Given the description of an element on the screen output the (x, y) to click on. 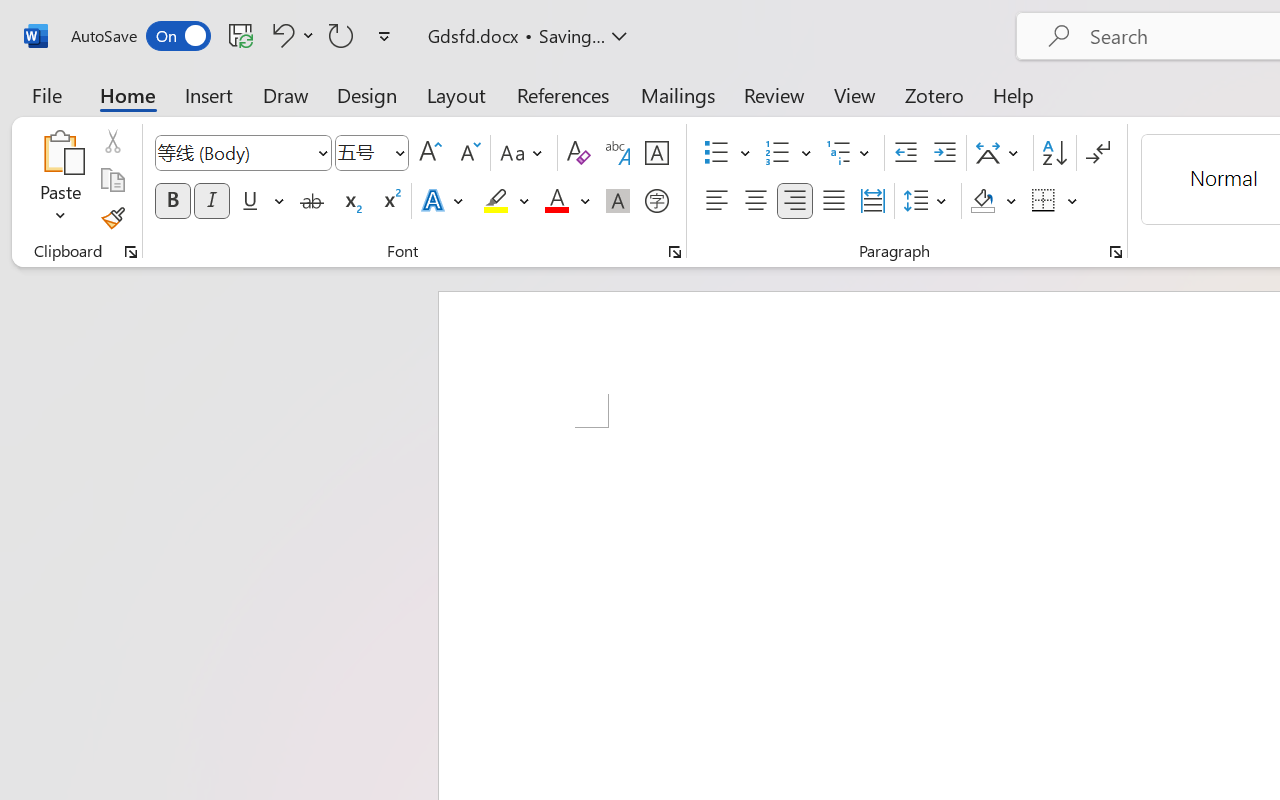
Format Painter (112, 218)
Decrease Indent (906, 153)
Multilevel List (850, 153)
Distributed (872, 201)
Copy (112, 179)
Character Border (656, 153)
Phonetic Guide... (618, 153)
